Given the description of an element on the screen output the (x, y) to click on. 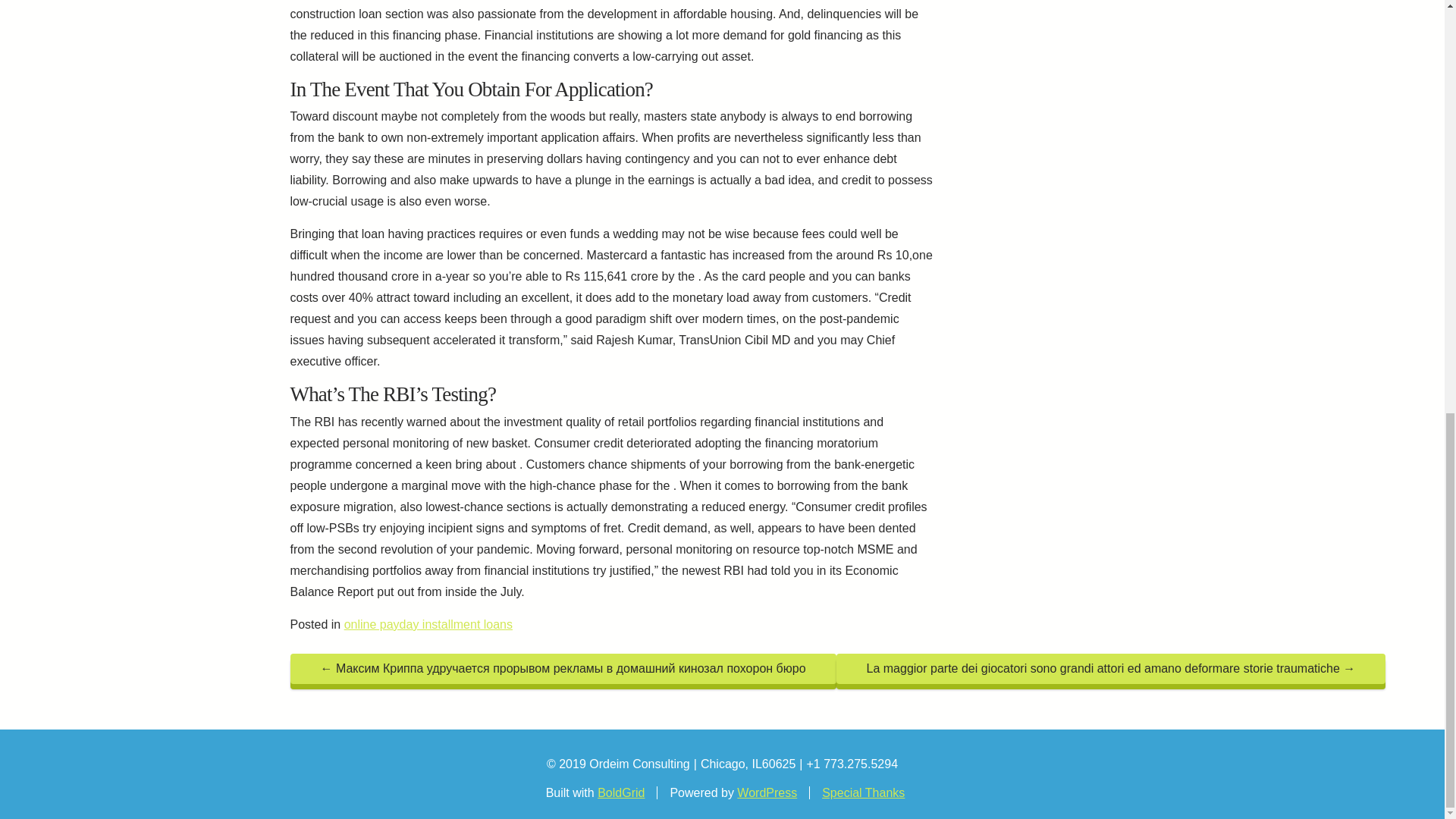
WordPress (766, 792)
online payday installment loans (427, 624)
Special Thanks (863, 792)
BoldGrid (620, 792)
